Given the description of an element on the screen output the (x, y) to click on. 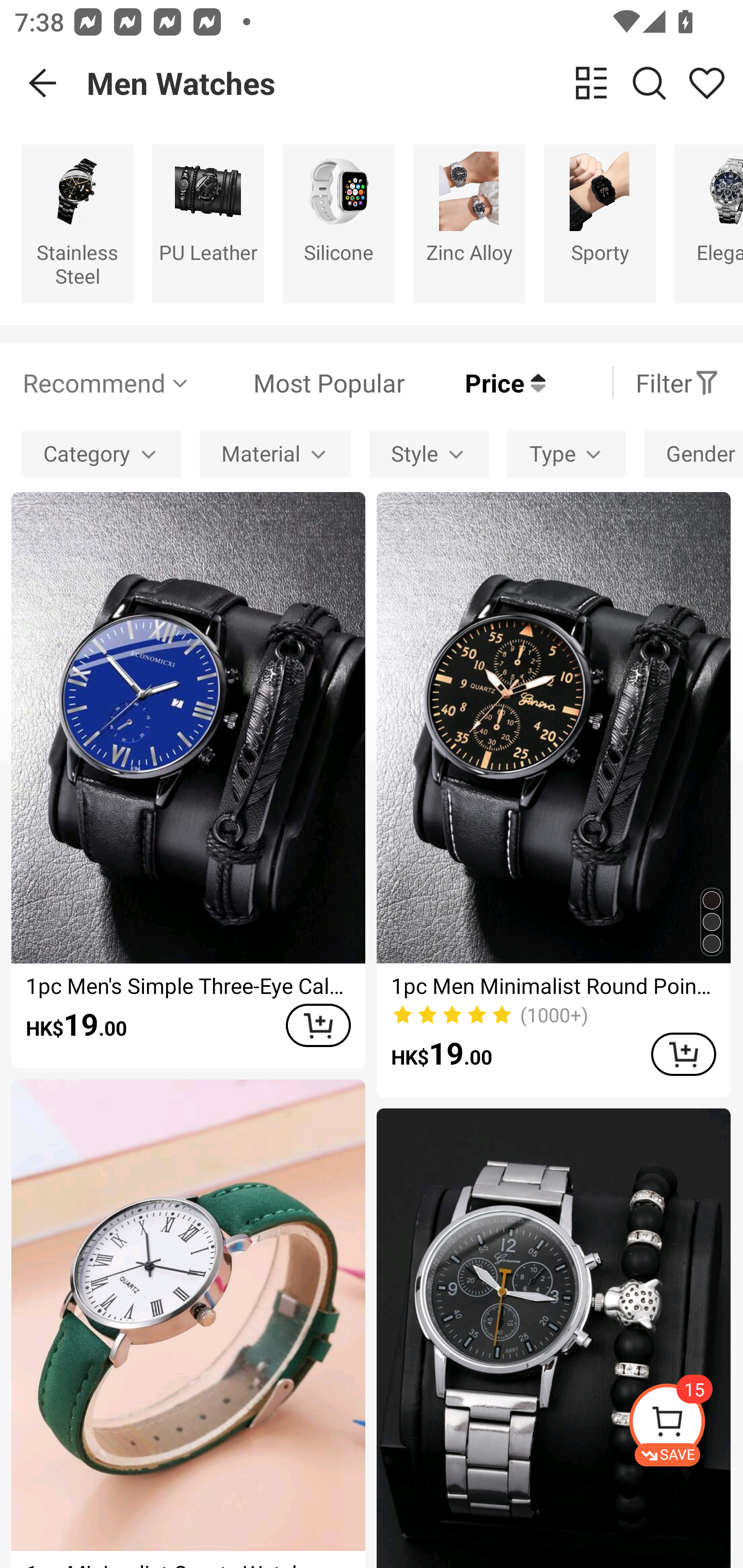
Men Watches change view Search Share (414, 82)
change view (591, 82)
Search (648, 82)
Share (706, 82)
Stainless Steel (77, 223)
PU Leather (208, 223)
Silicone (338, 223)
Zinc Alloy (469, 223)
Sporty (599, 223)
Elegant (708, 223)
Recommend (106, 382)
Most Popular (297, 382)
Price (474, 382)
Filter (677, 382)
Category (101, 454)
Material (274, 454)
Style (428, 454)
Type (566, 454)
Gender (693, 454)
ADD TO CART (318, 1025)
ADD TO CART (683, 1054)
1pc Minimalist Quartz Watch (188, 1323)
SAVE (685, 1424)
